Given the description of an element on the screen output the (x, y) to click on. 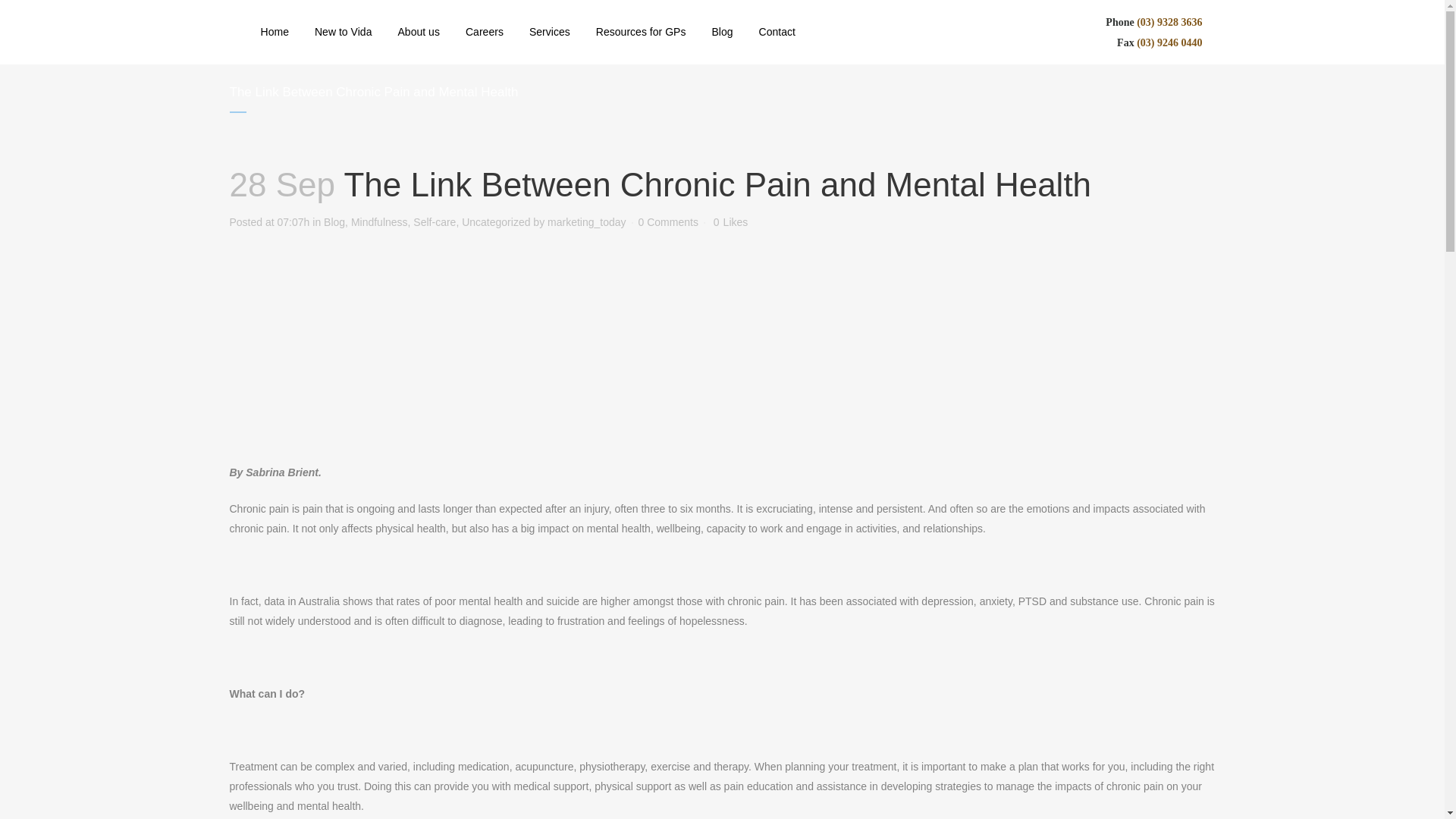
About us (417, 32)
New to Vida (343, 32)
Like this (730, 222)
Careers (484, 32)
Services (549, 32)
